Given the description of an element on the screen output the (x, y) to click on. 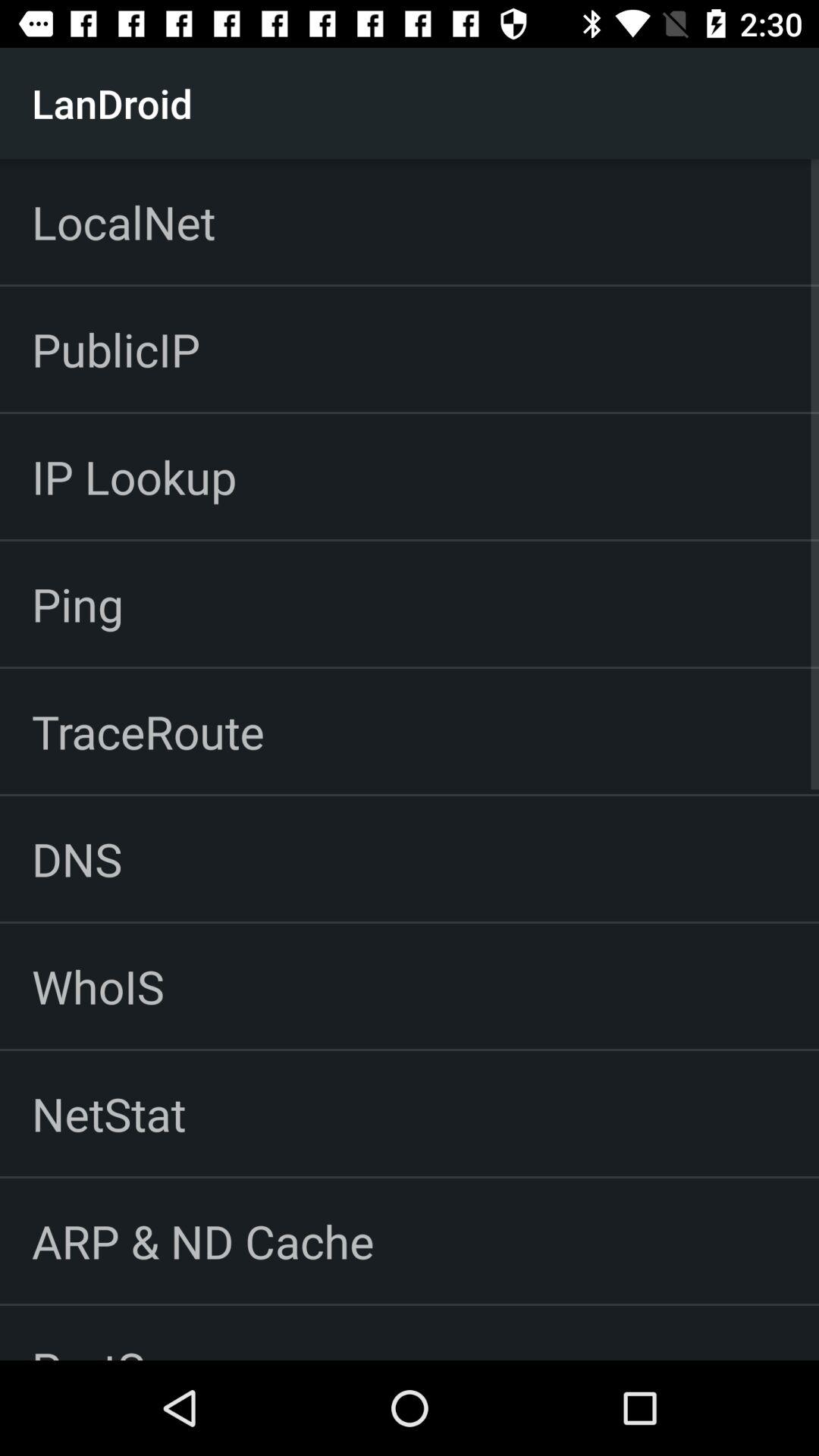
turn on whois item (98, 985)
